Given the description of an element on the screen output the (x, y) to click on. 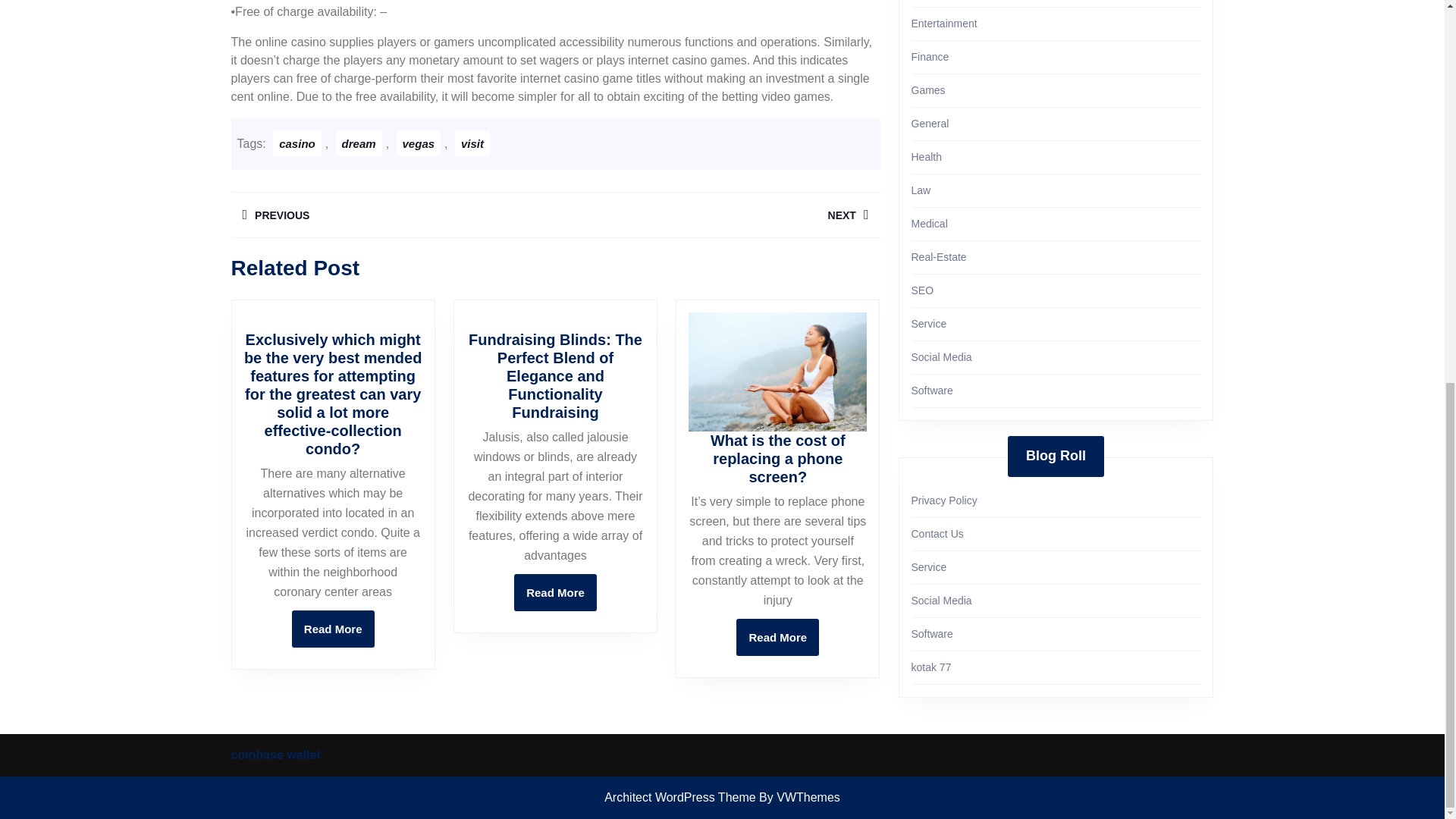
visit (716, 214)
Entertainment (471, 143)
casino (333, 628)
Finance (943, 23)
Games (297, 143)
